Given the description of an element on the screen output the (x, y) to click on. 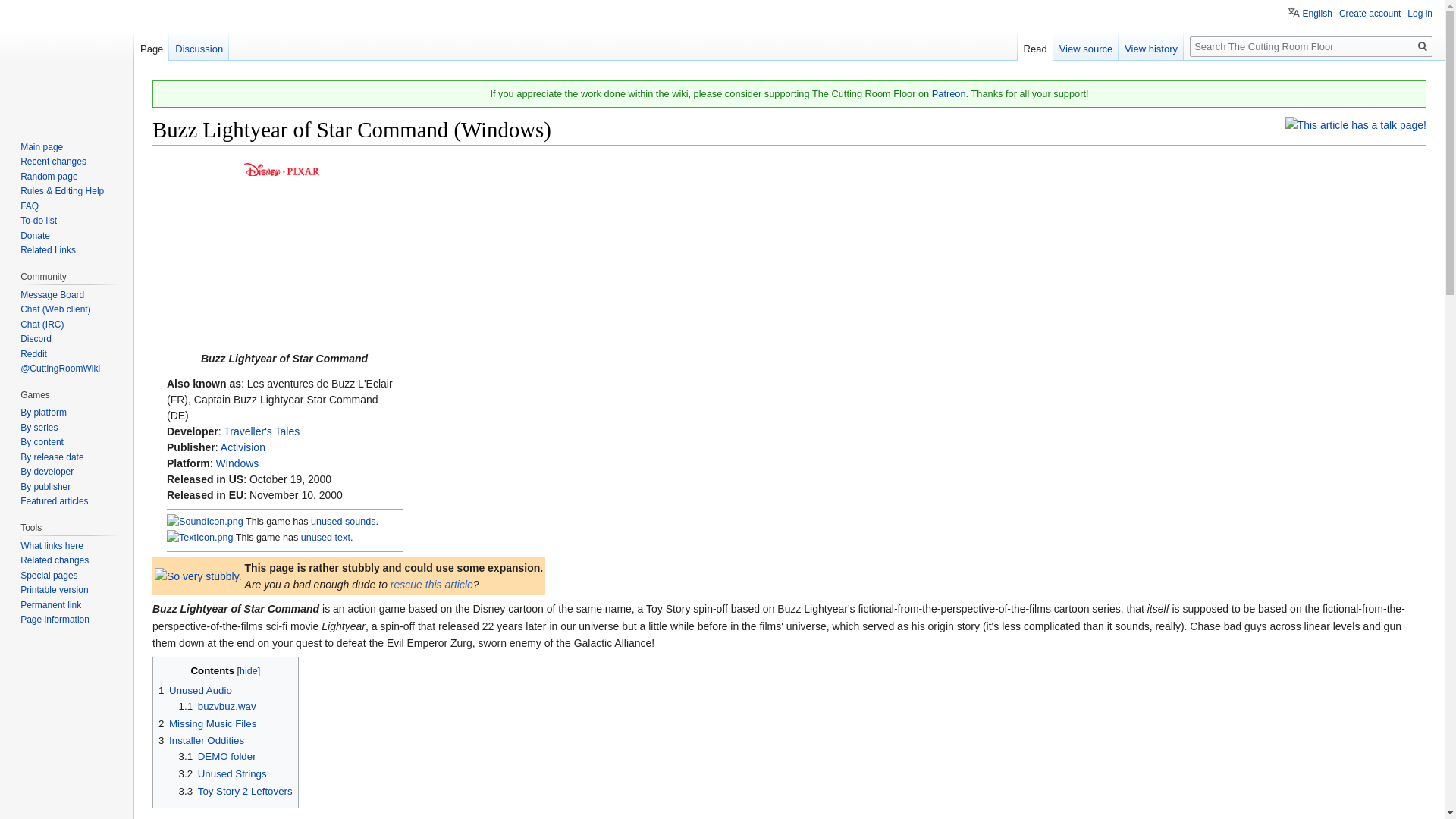
3.1 DEMO folder (217, 756)
Category:Windows games (237, 463)
Go (1422, 46)
Category:Games with unused sounds (205, 521)
Category:Games with unused text (199, 537)
Activision (242, 447)
Go (1422, 46)
2 Missing Music Files (207, 723)
Category:Games with unused text (325, 537)
1.1 buzvbuz.wav (217, 706)
